Given the description of an element on the screen output the (x, y) to click on. 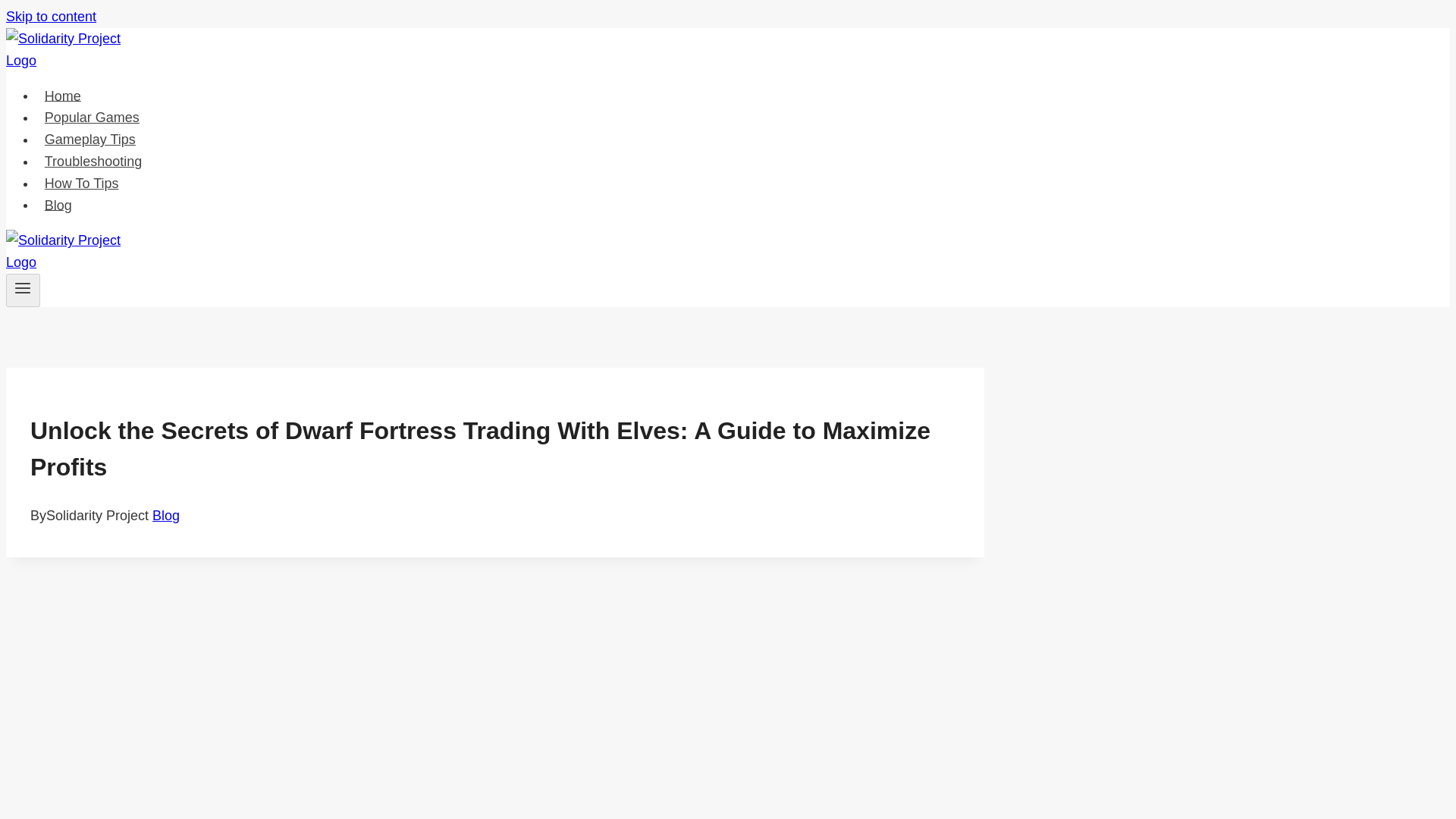
Skip to content (50, 16)
Troubleshooting (92, 161)
Gameplay Tips (90, 139)
Skip to content (50, 16)
Popular Games (92, 117)
Blog (165, 515)
How To Tips (81, 183)
Home (62, 96)
Toggle Menu (22, 288)
Toggle Menu (22, 290)
